Given the description of an element on the screen output the (x, y) to click on. 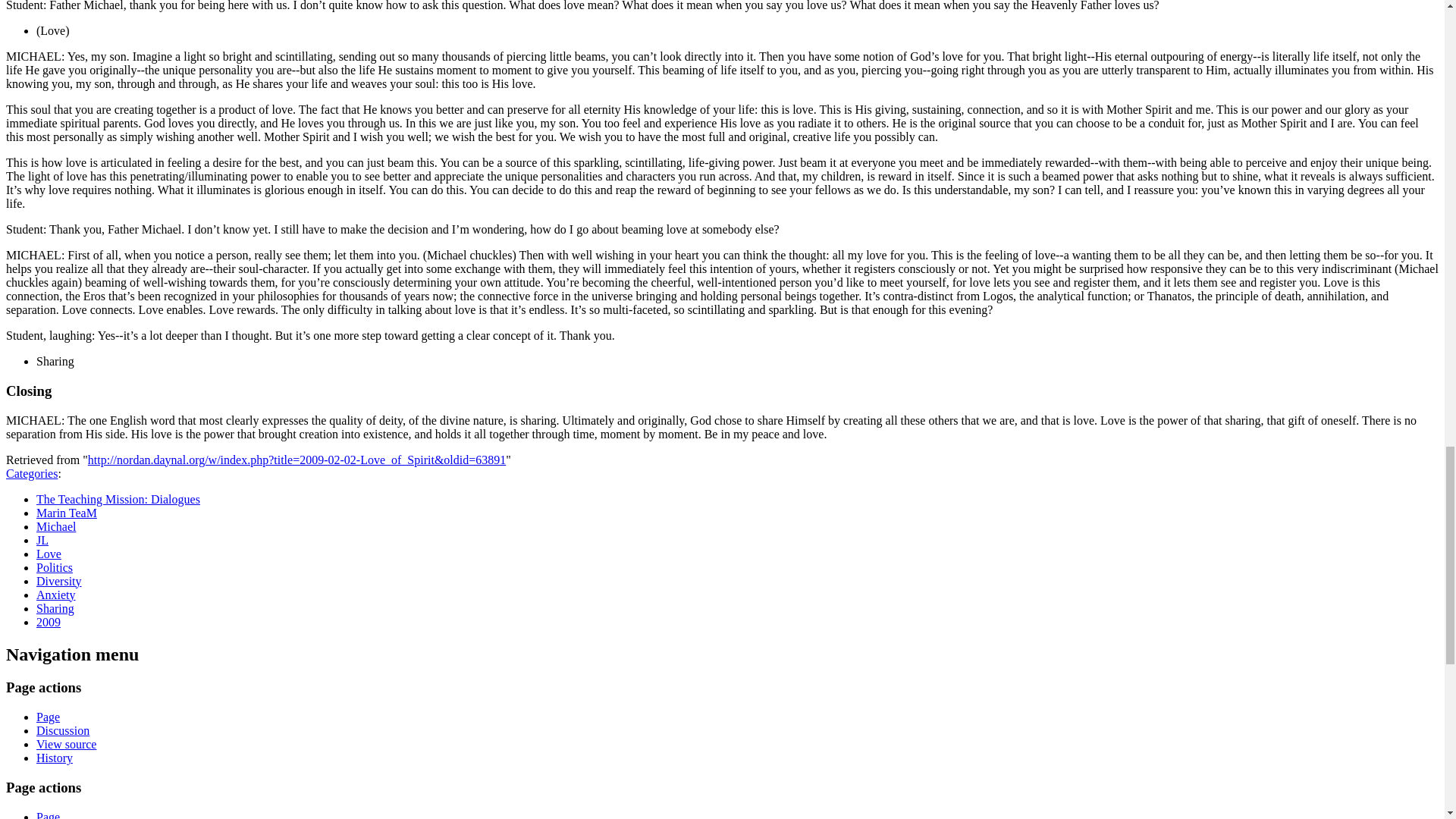
Category:Diversity (58, 581)
View source (66, 744)
Category:Anxiety (55, 594)
Page (47, 716)
Category:2009 (48, 621)
Michael (55, 526)
Category:JL (42, 540)
Categories (31, 472)
Category:Politics (54, 567)
Diversity (58, 581)
Politics (54, 567)
Anxiety (55, 594)
Marin TeaM (66, 512)
Love (48, 553)
Category:Marin TeaM (66, 512)
